Given the description of an element on the screen output the (x, y) to click on. 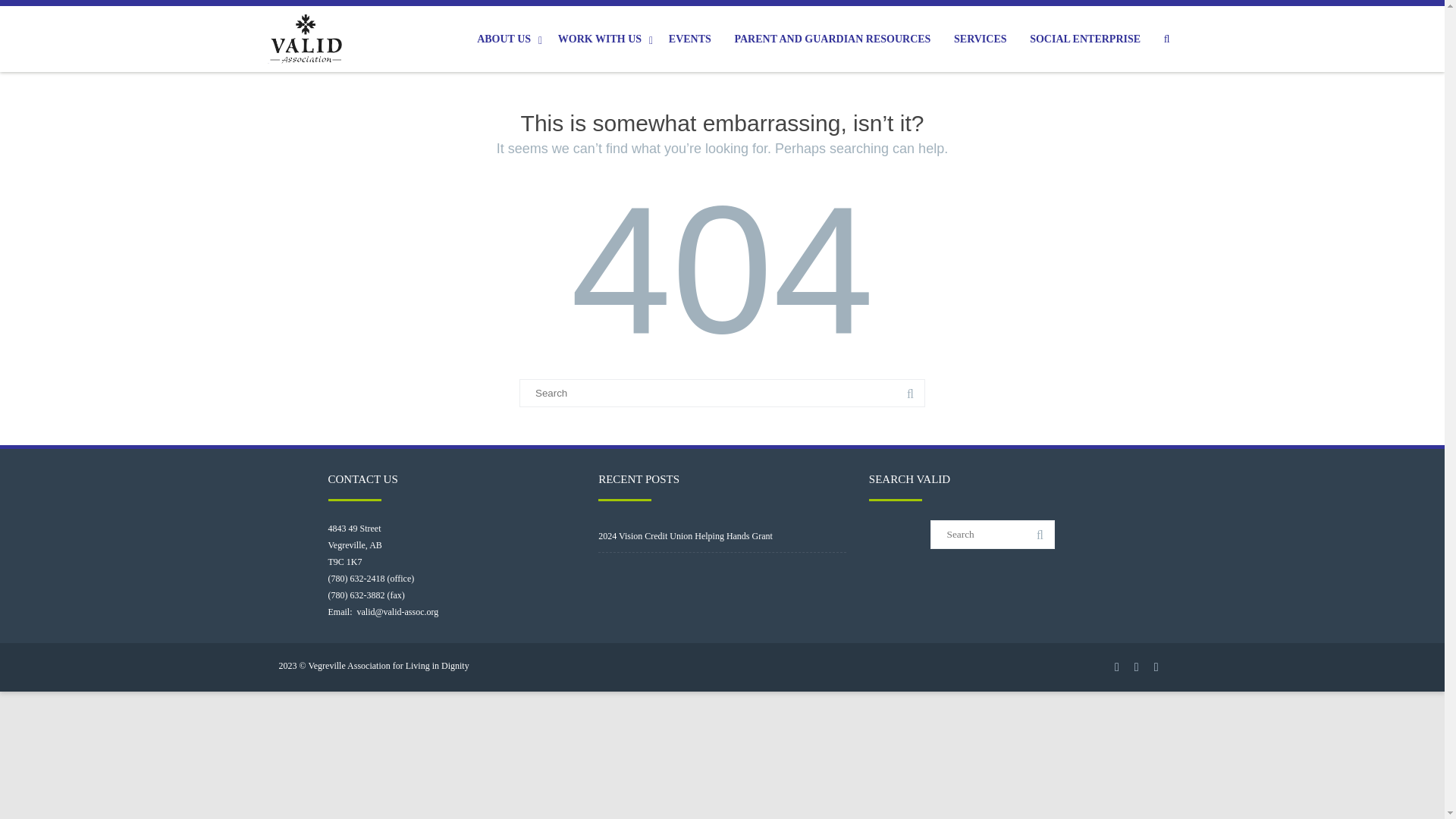
ABOUT US (509, 39)
WORK WITH US (604, 39)
SERVICES (980, 39)
SOCIAL ENTERPRISE (1084, 39)
VALID (307, 38)
EVENTS (689, 39)
2024 Vision Credit Union Helping Hands Grant (685, 535)
PARENT AND GUARDIAN RESOURCES (831, 39)
Search for: (992, 534)
Search for: (721, 393)
